Given the description of an element on the screen output the (x, y) to click on. 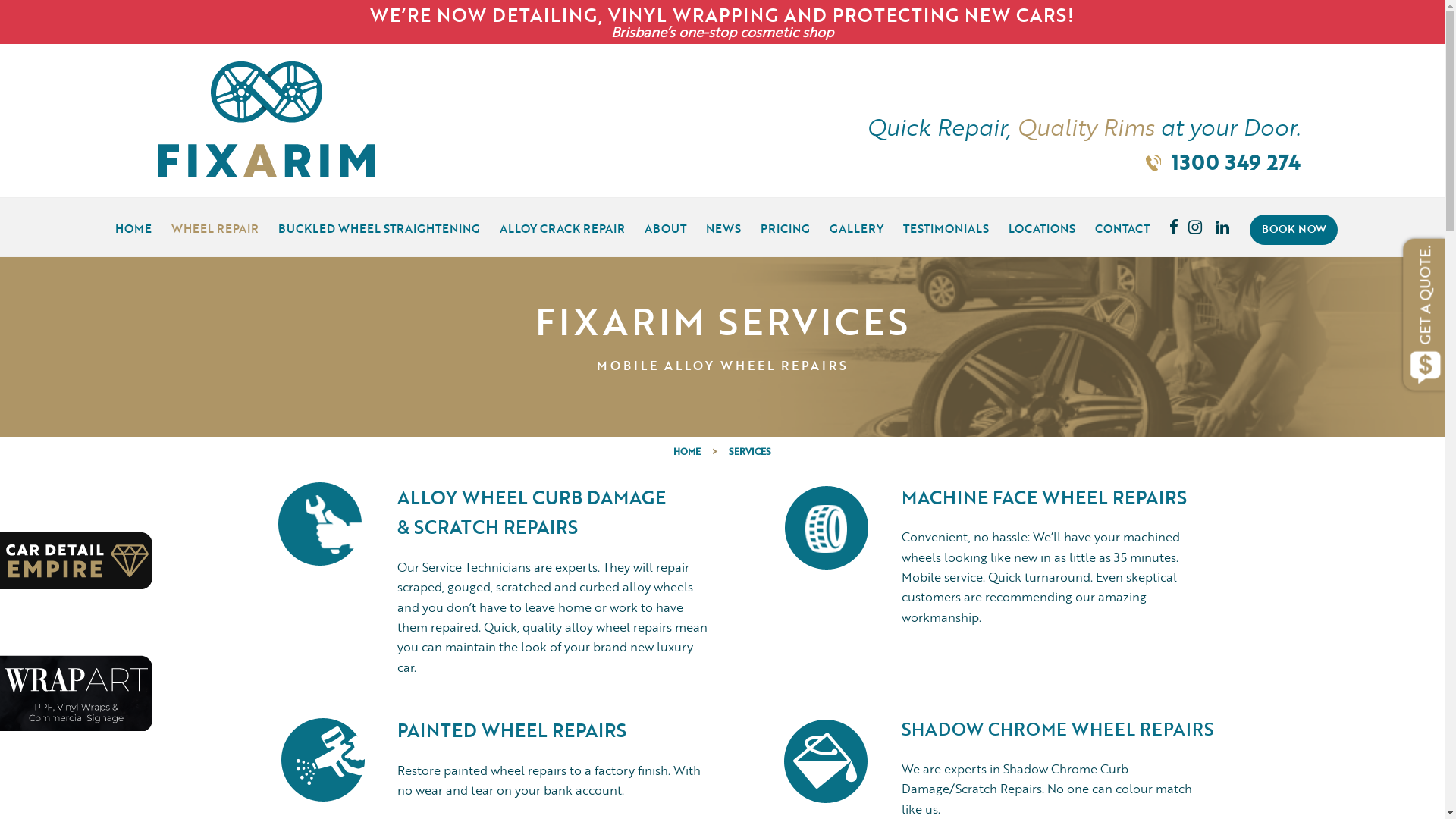
SHADOW CHROME WHEEL REPAIRS Element type: text (1057, 728)
HOME Element type: text (686, 451)
PRICING Element type: text (785, 224)
TESTIMONIALS Element type: text (945, 224)
SERVICES Element type: text (749, 451)
WHEEL REPAIR Element type: text (214, 224)
MACHINE FACE WHEEL REPAIRS Element type: text (1043, 496)
ABOUT Element type: text (665, 224)
1300 349 274 Element type: text (1234, 161)
PAINTED WHEEL REPAIRS Element type: text (511, 729)
BUCKLED WHEEL STRAIGHTENING Element type: text (378, 224)
GALLERY Element type: text (856, 224)
ALLOY WHEEL CURB DAMAGE Element type: text (531, 496)
HOME Element type: text (133, 224)
ALLOY CRACK REPAIR Element type: text (562, 224)
NEWS Element type: text (723, 224)
CONTACT Element type: text (1121, 224)
BOOK NOW Element type: text (1293, 229)
& SCRATCH REPAIRS Element type: text (487, 526)
LOCATIONS Element type: text (1041, 224)
